Given the description of an element on the screen output the (x, y) to click on. 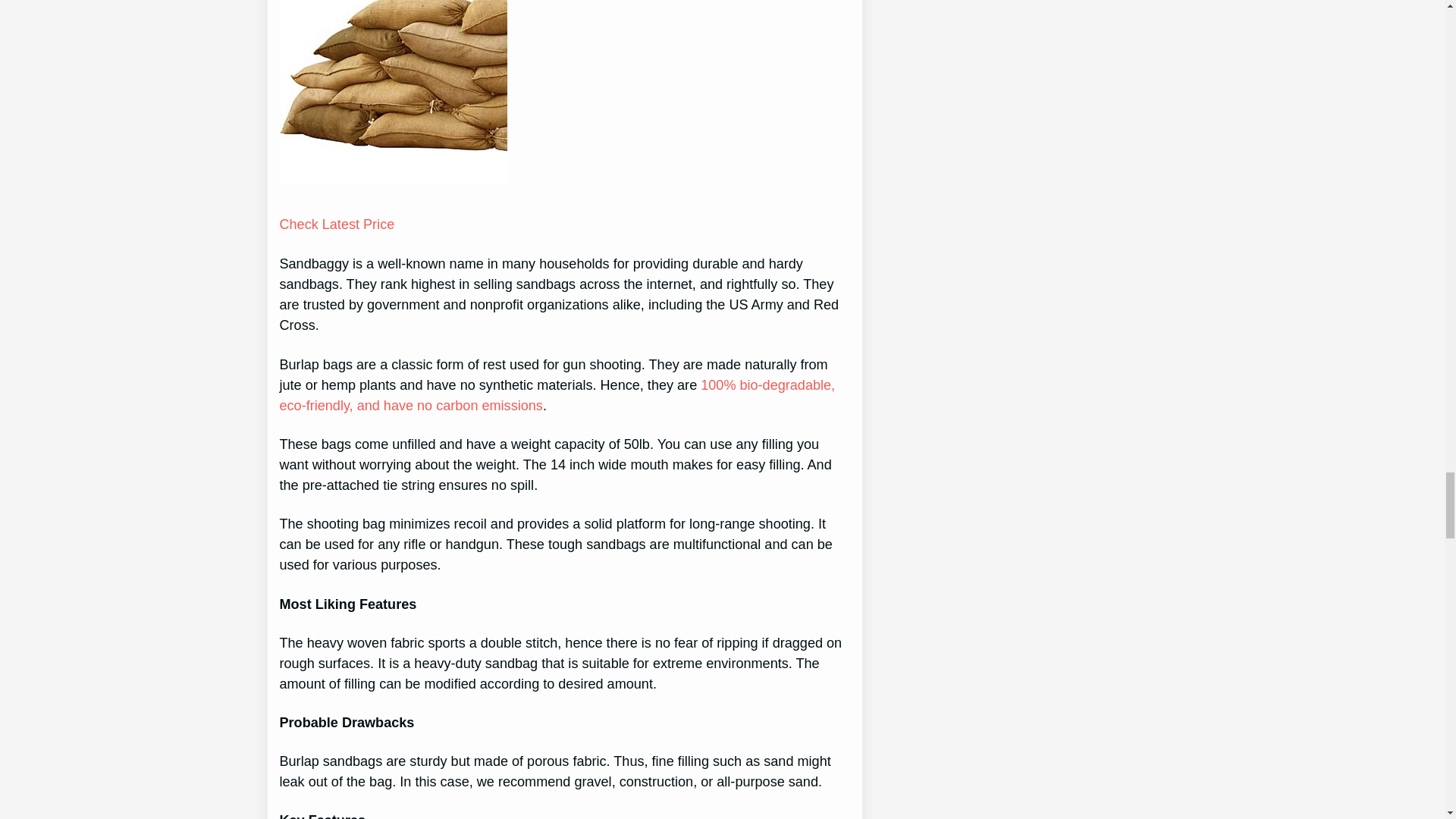
Check Latest Price (336, 224)
